Given the description of an element on the screen output the (x, y) to click on. 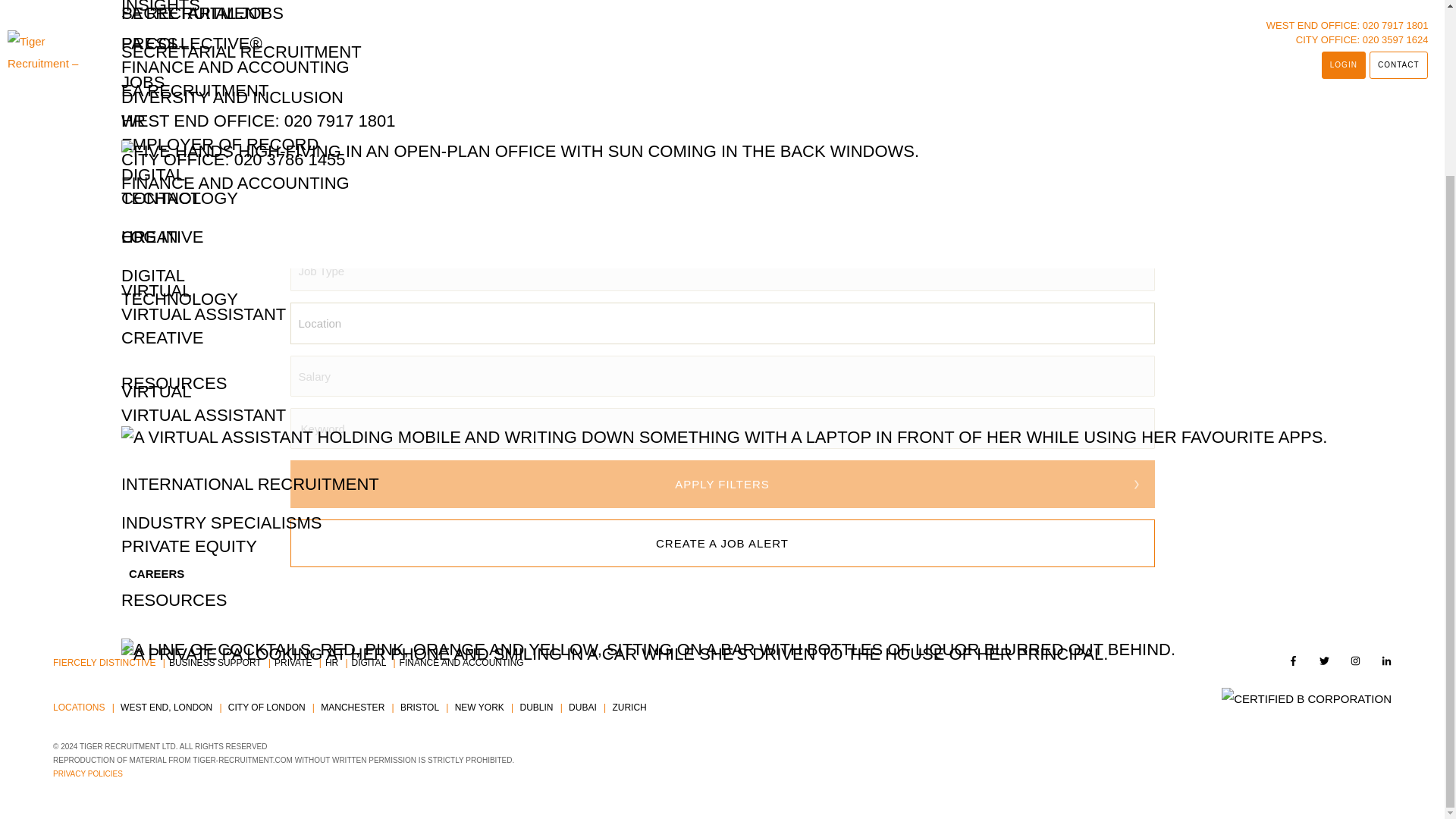
INDUSTRY SPECIALISMS (220, 308)
CREATIVE (161, 123)
CREATIVE (161, 23)
TECHNOLOGY (179, 85)
RESOURCES (173, 385)
VIRTUAL ASSISTANT (202, 100)
VIRTUAL ASSISTANT (202, 200)
DIGITAL (152, 60)
RESOURCES (173, 168)
INTERNATIONAL RECRUITMENT (249, 270)
